Given the description of an element on the screen output the (x, y) to click on. 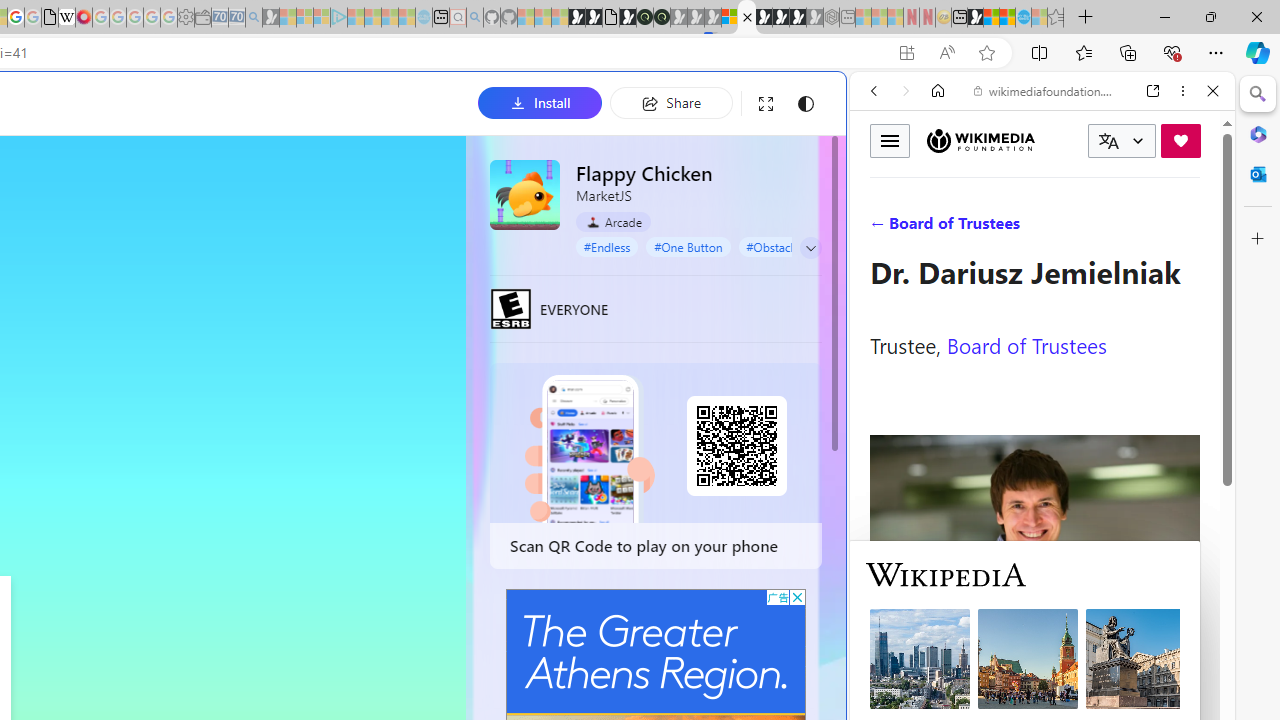
WEB   (882, 228)
Open link in new tab (1153, 91)
Toggle menu (890, 140)
Home | Sky Blue Bikes - Sky Blue Bikes - Sleeping (424, 17)
Share (671, 102)
World - MSN (991, 17)
Favorites - Sleeping (1055, 17)
Play Cave FRVR in your browser | Games from Microsoft Start (343, 426)
